Given the description of an element on the screen output the (x, y) to click on. 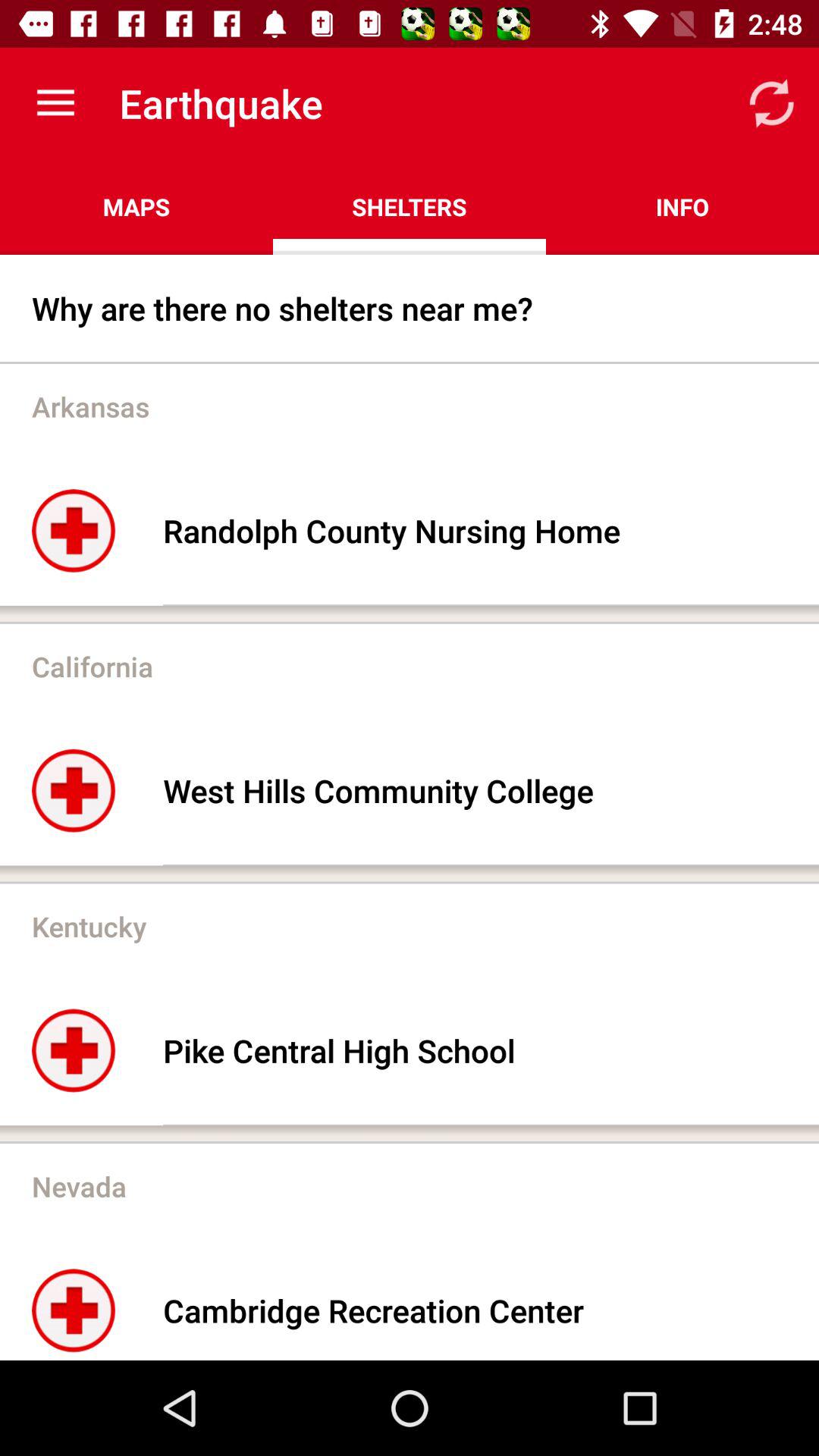
turn on the icon next to shelters icon (136, 206)
